Given the description of an element on the screen output the (x, y) to click on. 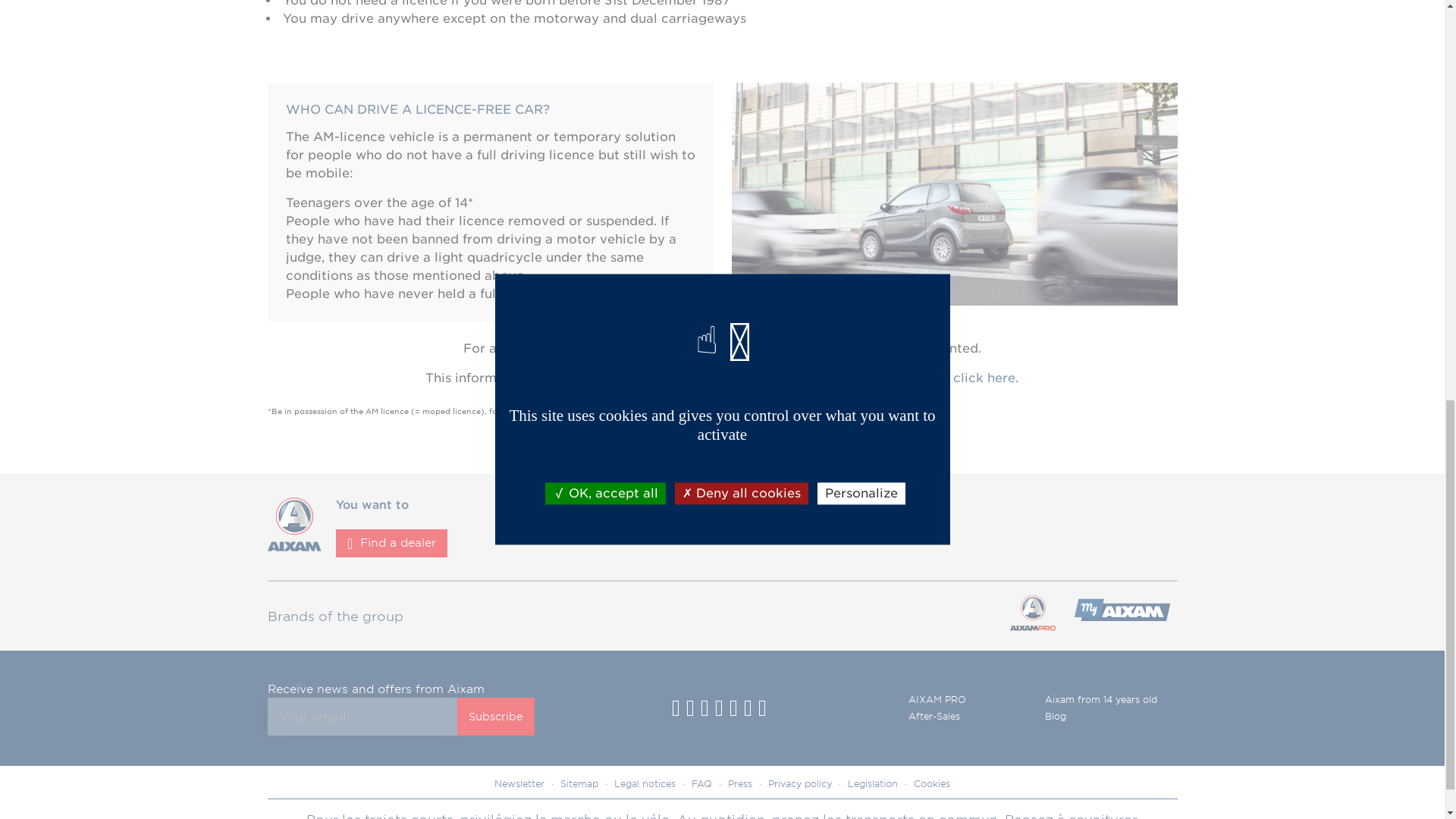
Aixam PRO (1031, 615)
Aixam PRO (1121, 615)
Aixam (293, 546)
Subscribe (495, 716)
